Given the description of an element on the screen output the (x, y) to click on. 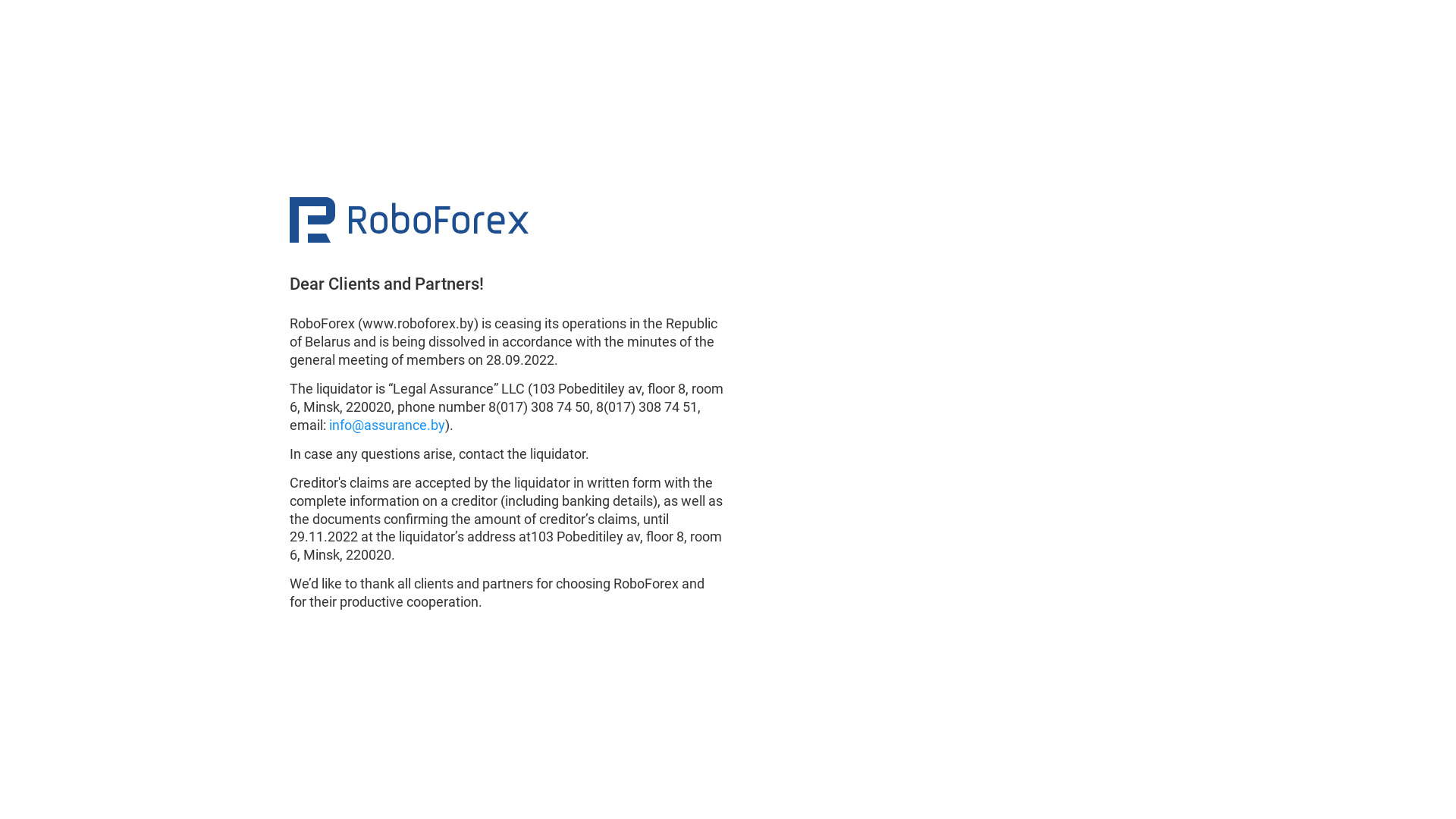
info@assurance.by Element type: text (387, 425)
